Given the description of an element on the screen output the (x, y) to click on. 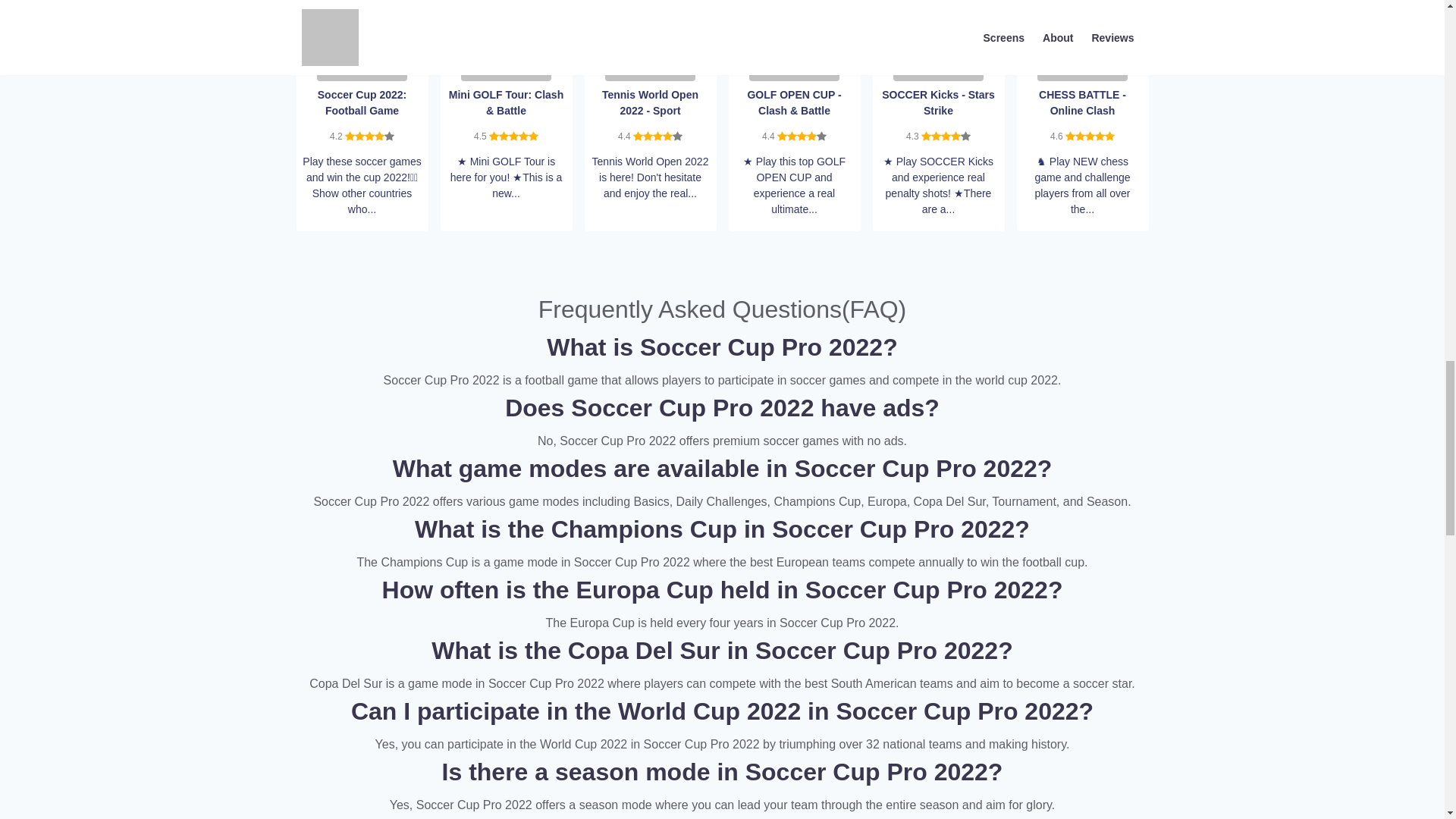
SOCCER Kicks - Stars Strike (938, 34)
Tennis World Open 2022 - Sport (650, 34)
Soccer Cup 2022: Football Game (362, 34)
CHESS BATTLE - Online Clash (1081, 34)
